Given the description of an element on the screen output the (x, y) to click on. 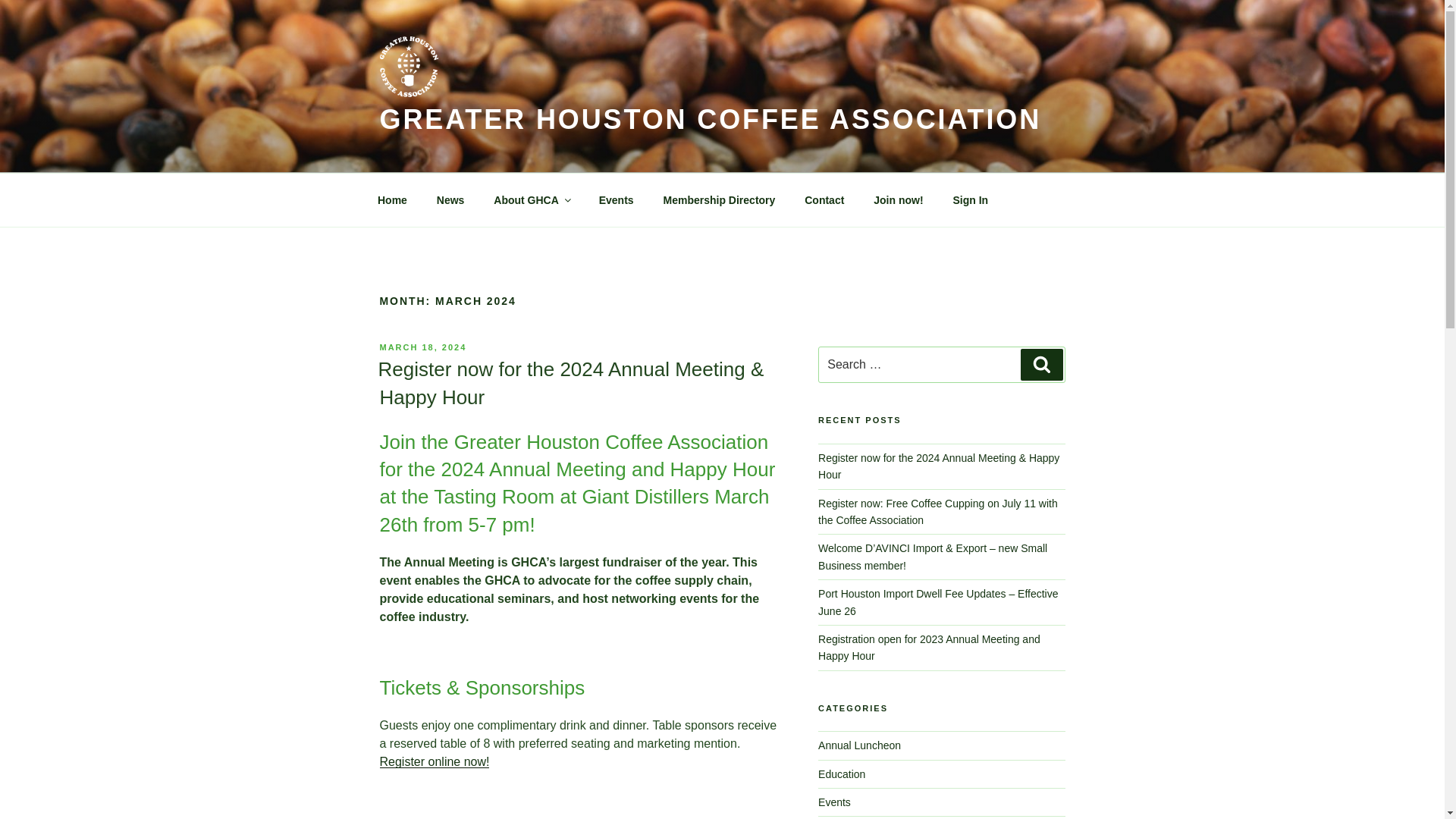
Events (834, 802)
Education (841, 774)
News (450, 200)
Home (392, 200)
Membership Directory (719, 200)
Search (1041, 364)
Contact (824, 200)
Register online now! (433, 761)
MARCH 18, 2024 (421, 347)
Join now! (898, 200)
